Given the description of an element on the screen output the (x, y) to click on. 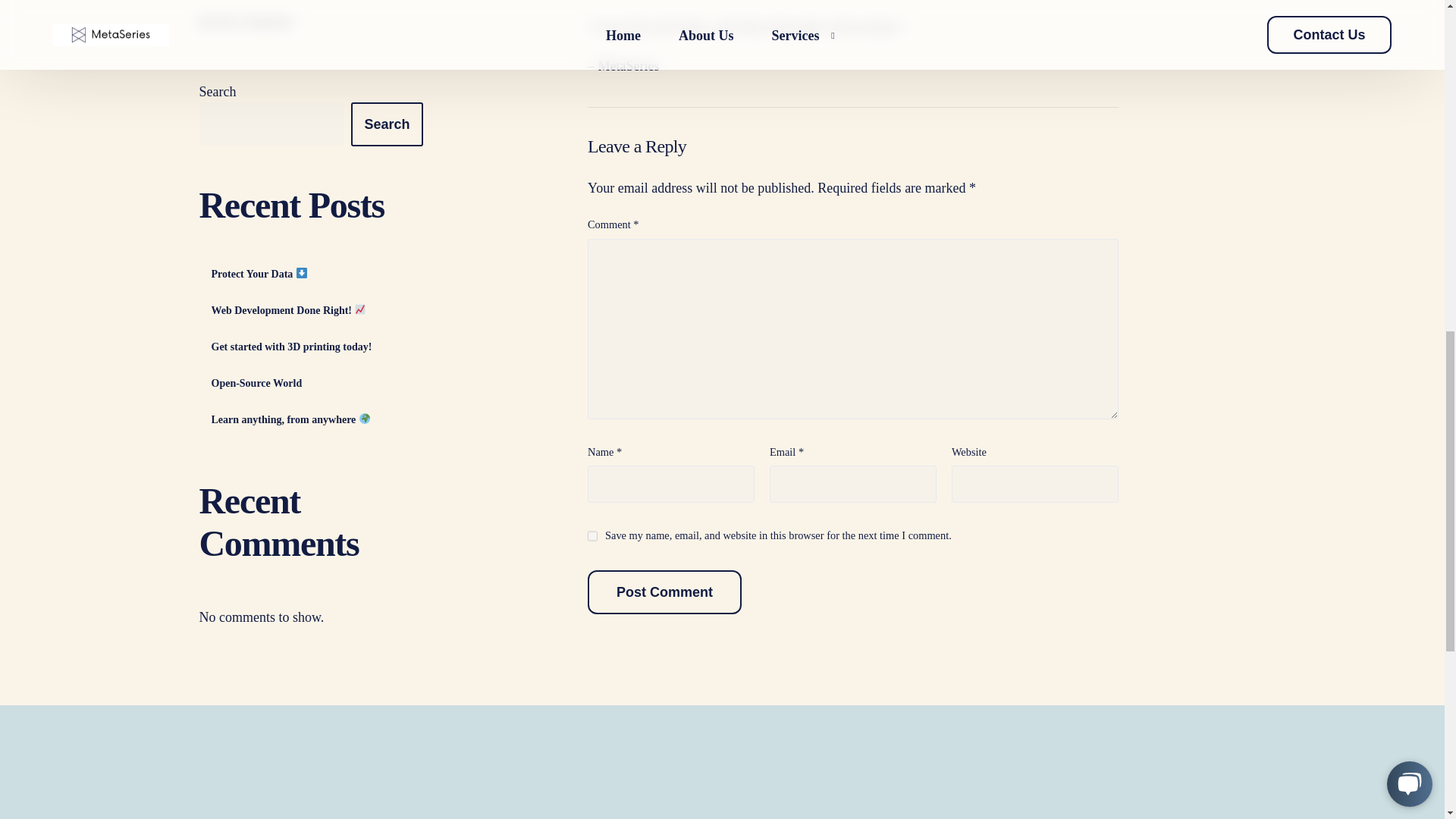
Post Comment (664, 592)
Post Comment (664, 597)
